Given the description of an element on the screen output the (x, y) to click on. 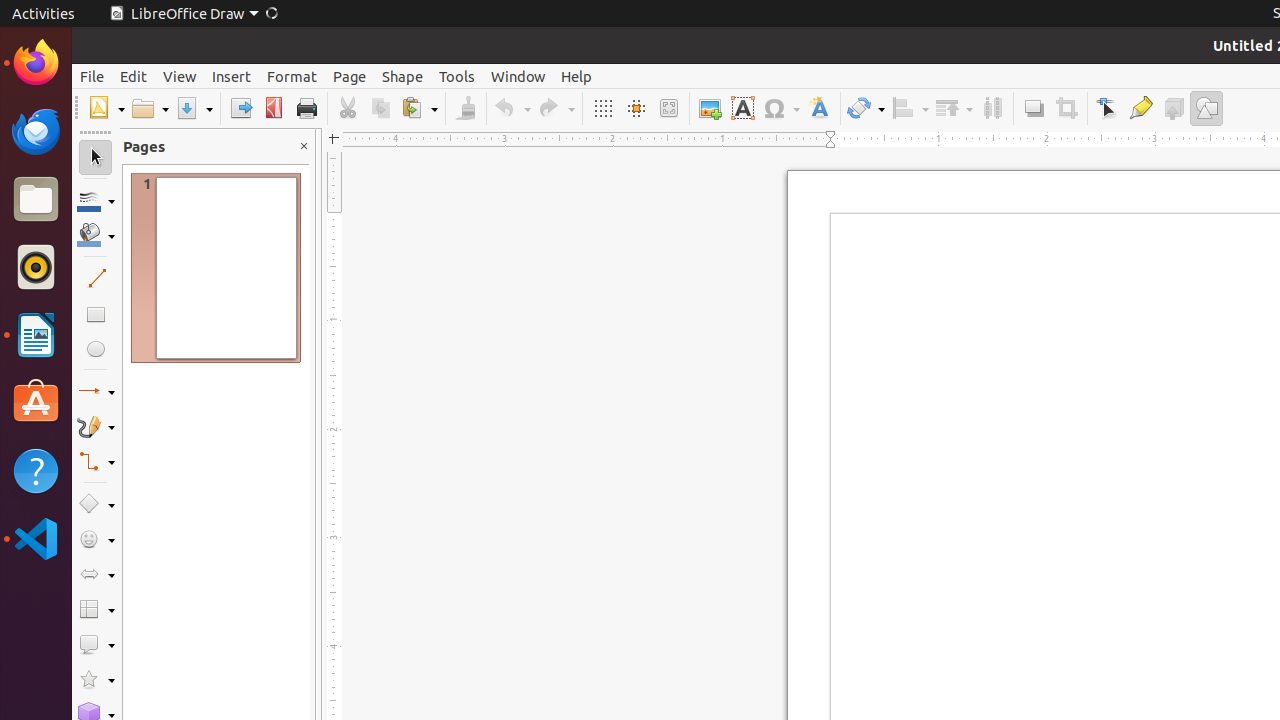
Page 1 Element type: panel (216, 268)
Edit Points Element type: push-button (1107, 108)
Shape Element type: menu (402, 76)
Export Element type: push-button (240, 108)
